Given the description of an element on the screen output the (x, y) to click on. 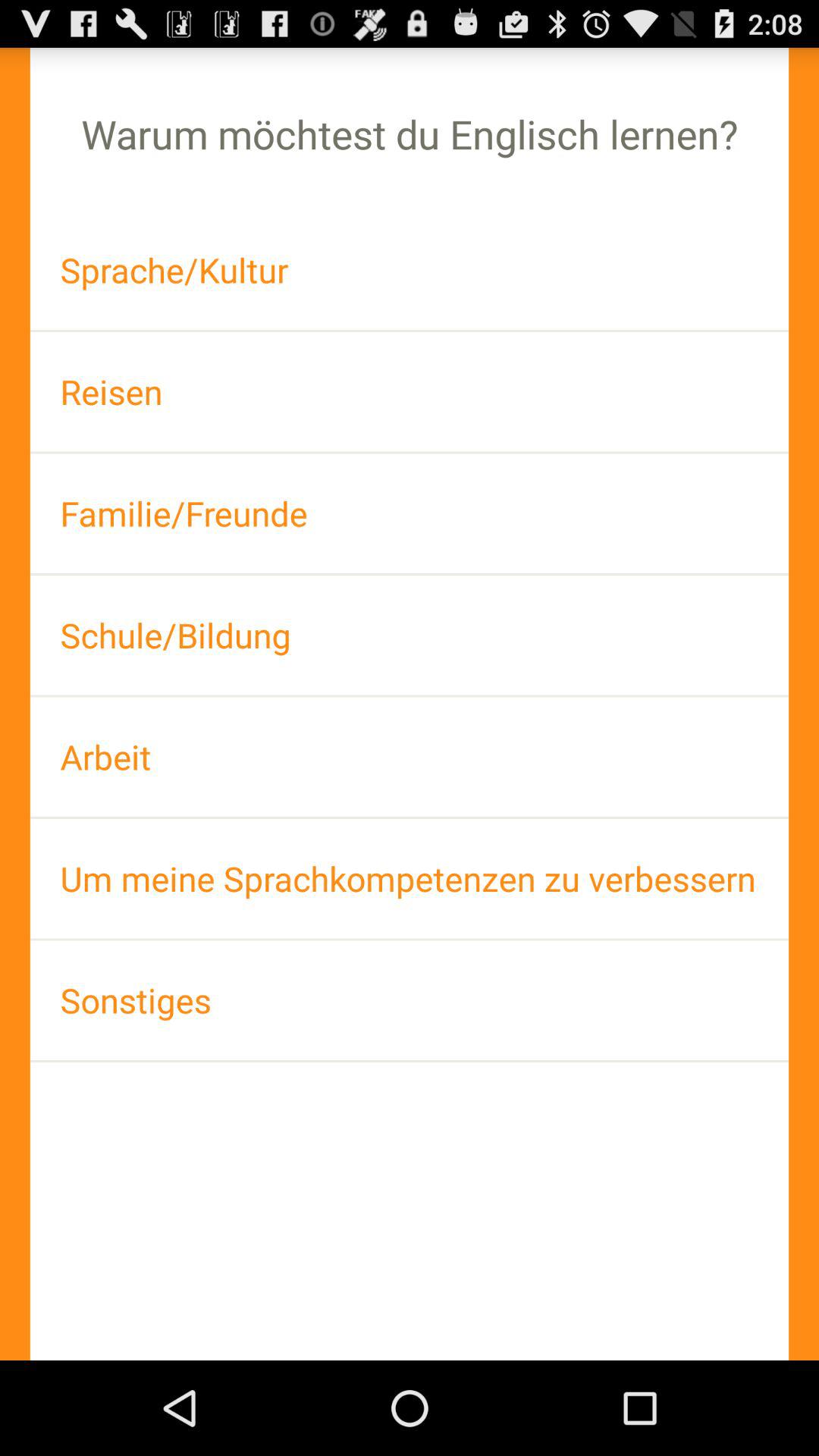
select the item above the reisen app (409, 269)
